Given the description of an element on the screen output the (x, y) to click on. 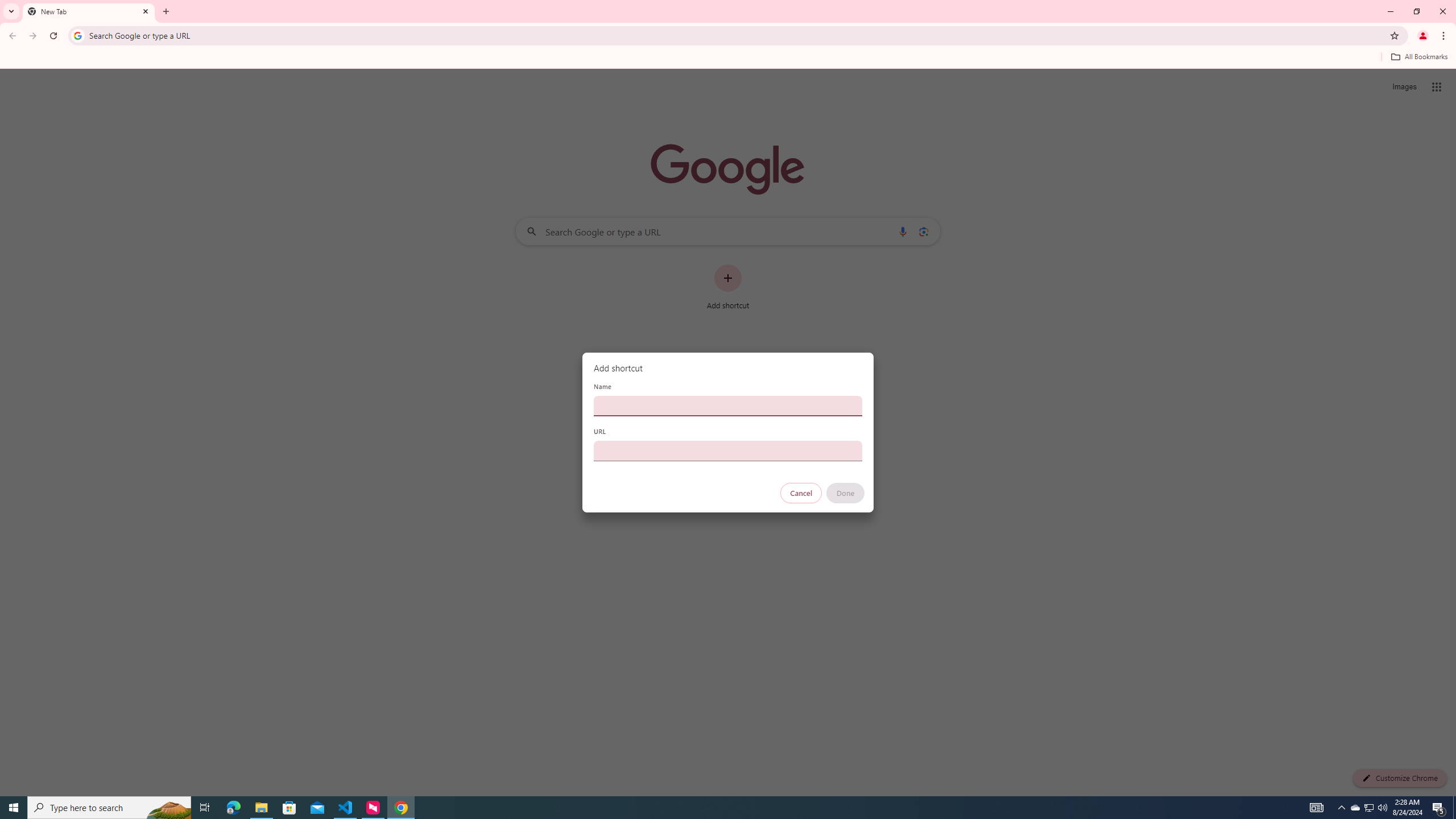
URL (727, 450)
New Tab (88, 11)
